Given the description of an element on the screen output the (x, y) to click on. 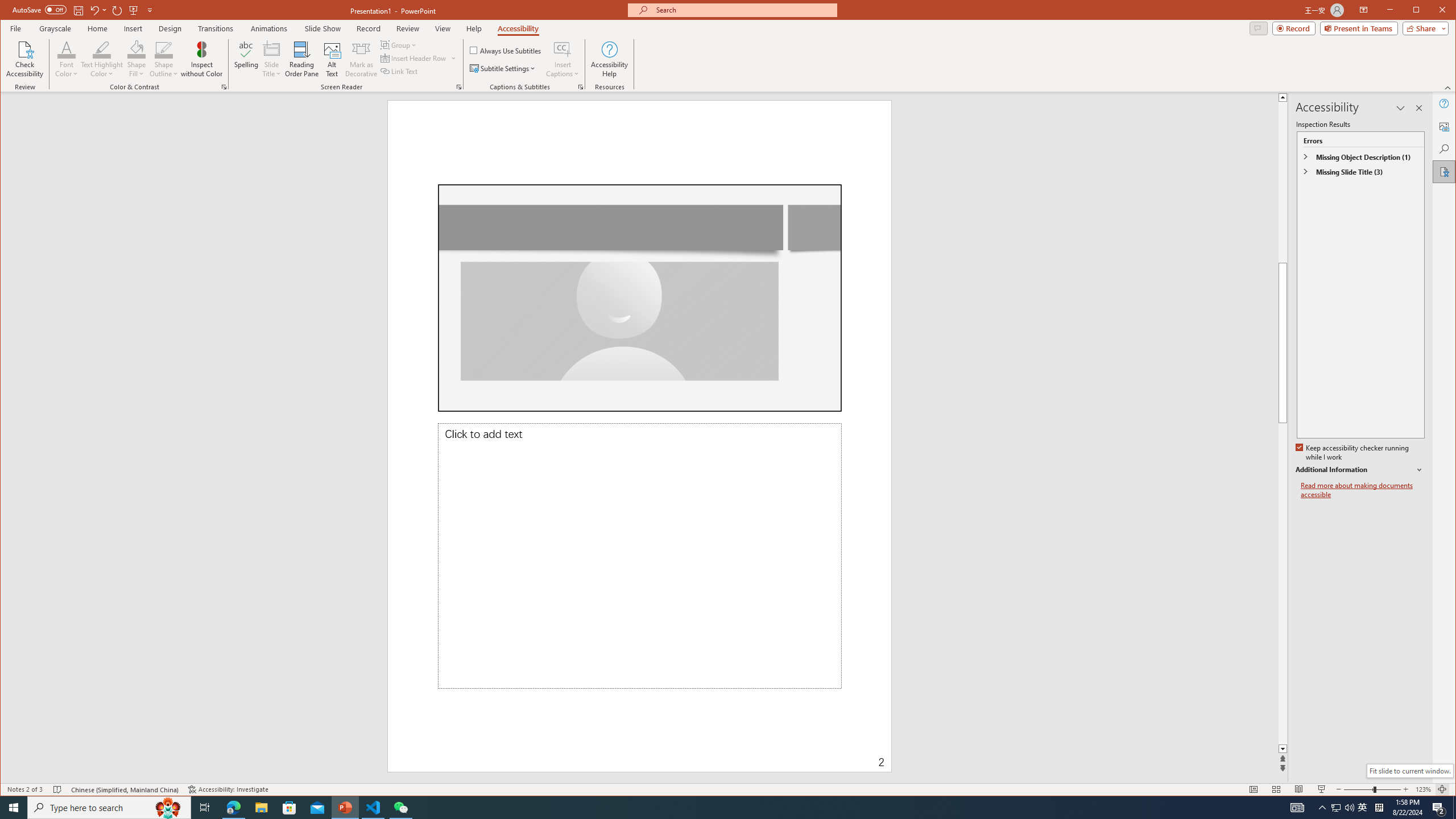
Insert Captions (562, 59)
Maximize (1432, 11)
Color & Contrast (223, 86)
Reading Order Pane (301, 59)
Grayscale (55, 28)
